Given the description of an element on the screen output the (x, y) to click on. 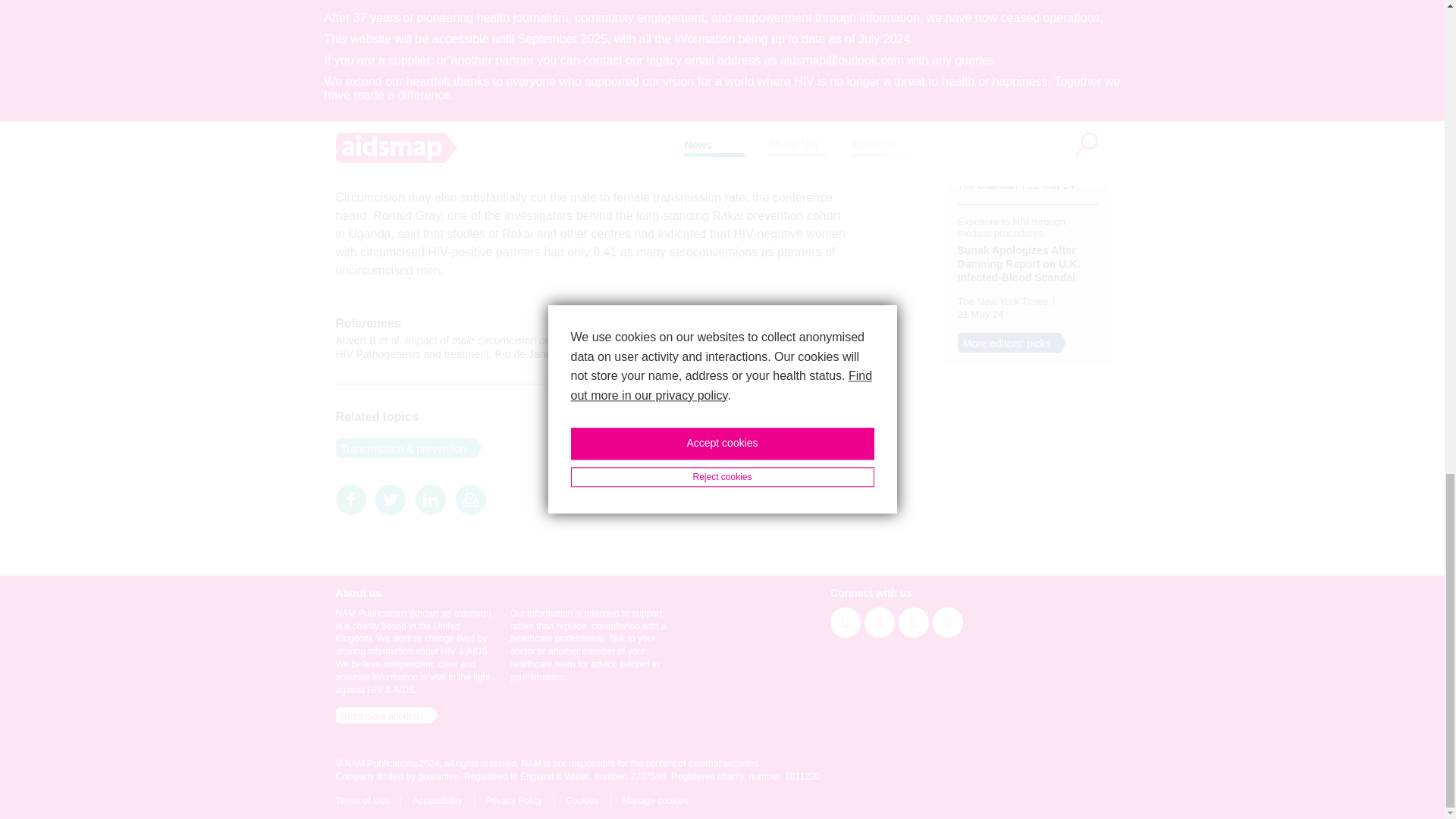
Print (470, 499)
LinkedIn (429, 499)
Facebook (349, 499)
Twitter (390, 499)
